Given the description of an element on the screen output the (x, y) to click on. 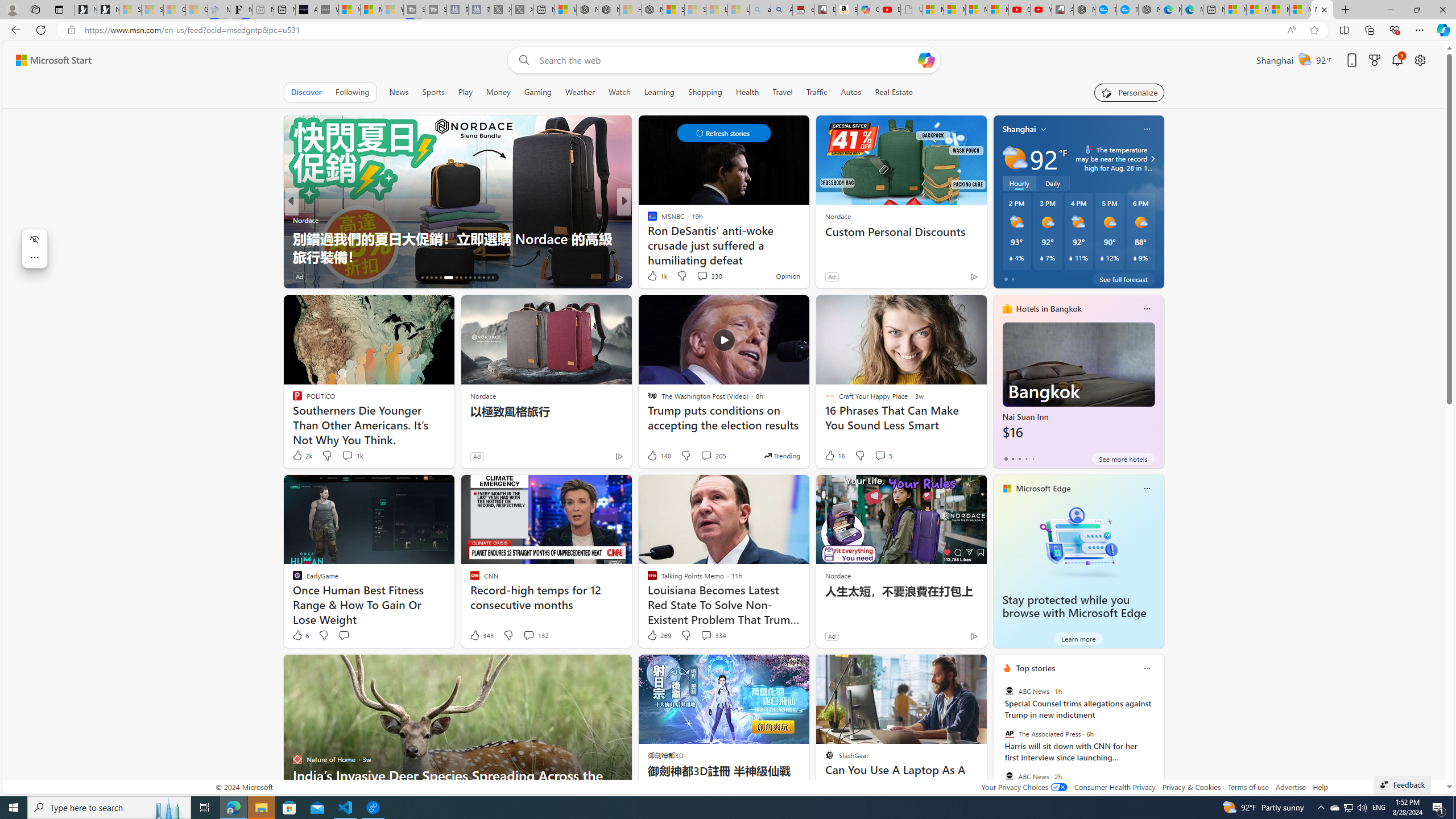
View comments 266 Comment (703, 276)
Terms of use (1247, 786)
Microsoft Edge (1043, 488)
